Given the description of an element on the screen output the (x, y) to click on. 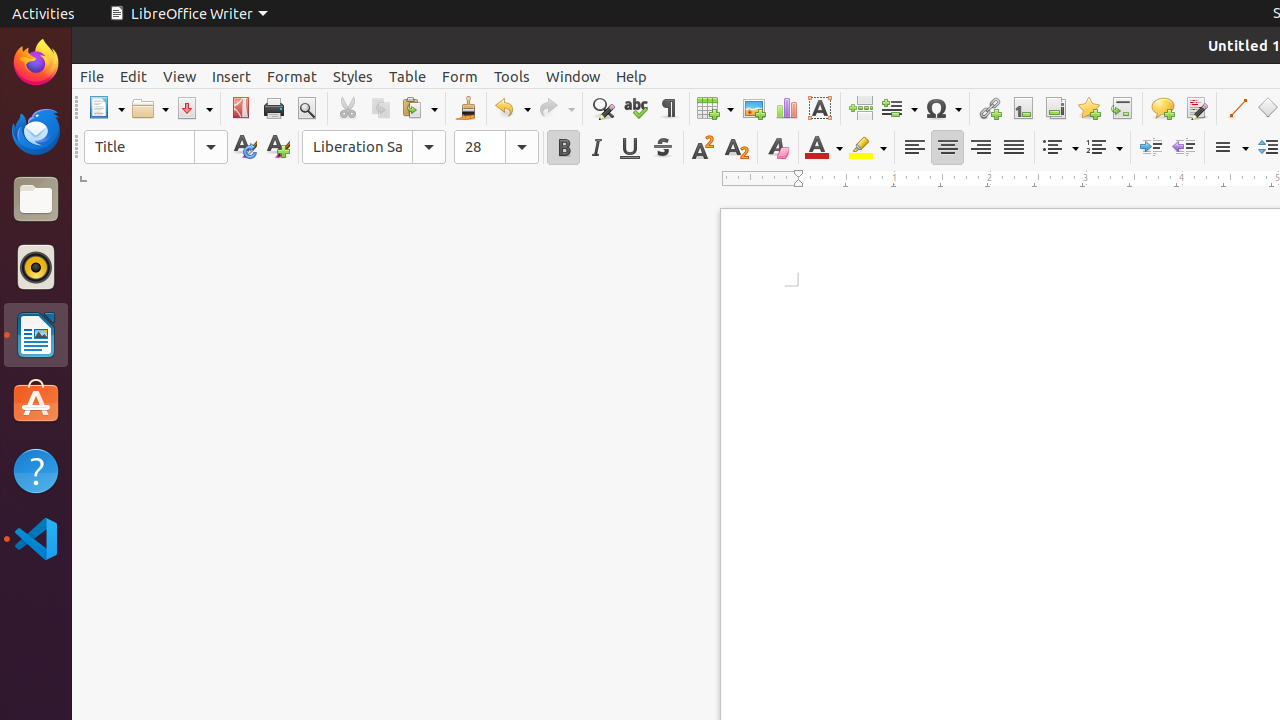
Superscript Element type: toggle-button (703, 147)
Edit Element type: menu (133, 76)
Italic Element type: toggle-button (596, 147)
Field Element type: push-button (899, 108)
Page Break Element type: push-button (860, 108)
